Given the description of an element on the screen output the (x, y) to click on. 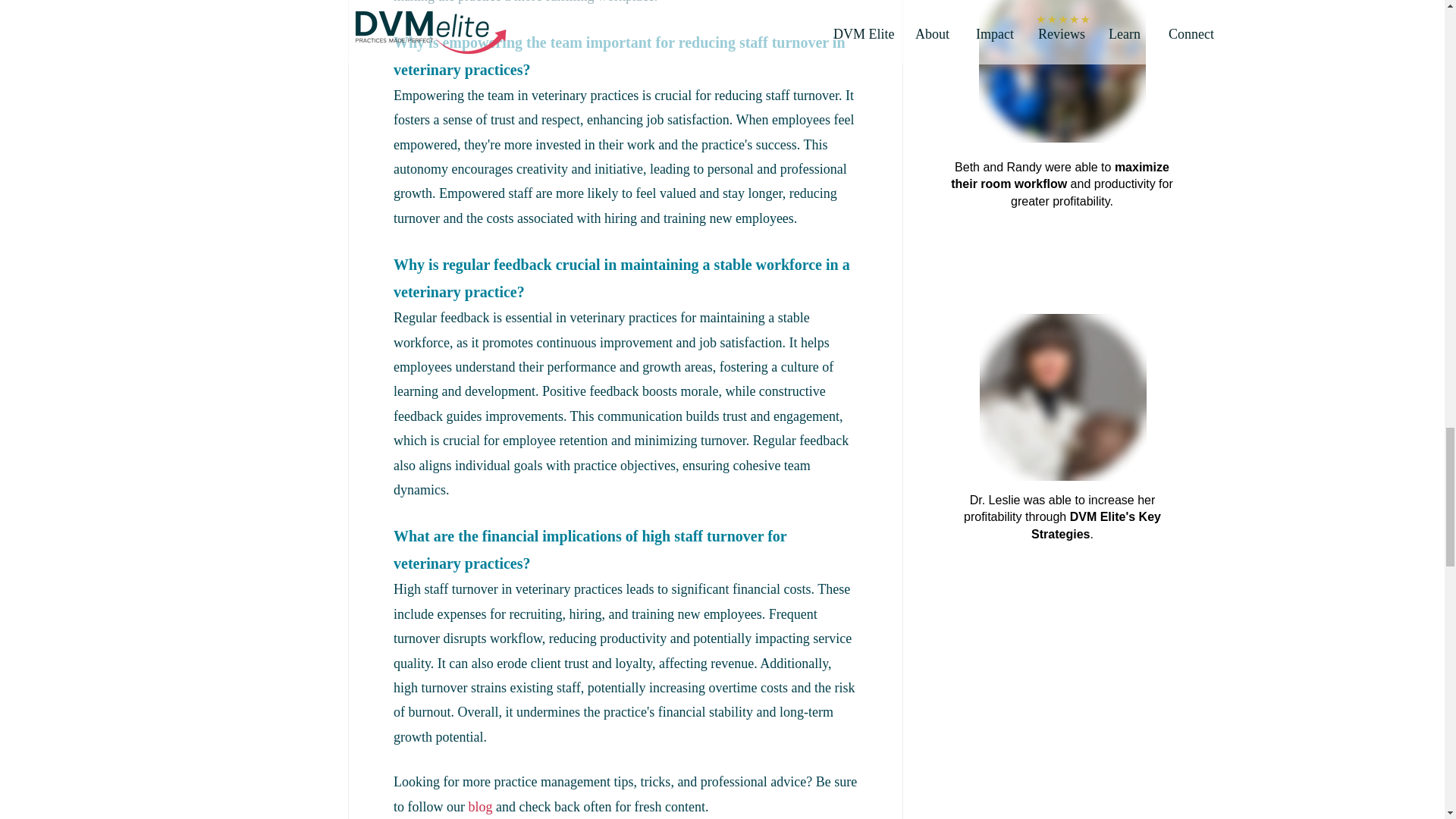
blog (479, 806)
